Given the description of an element on the screen output the (x, y) to click on. 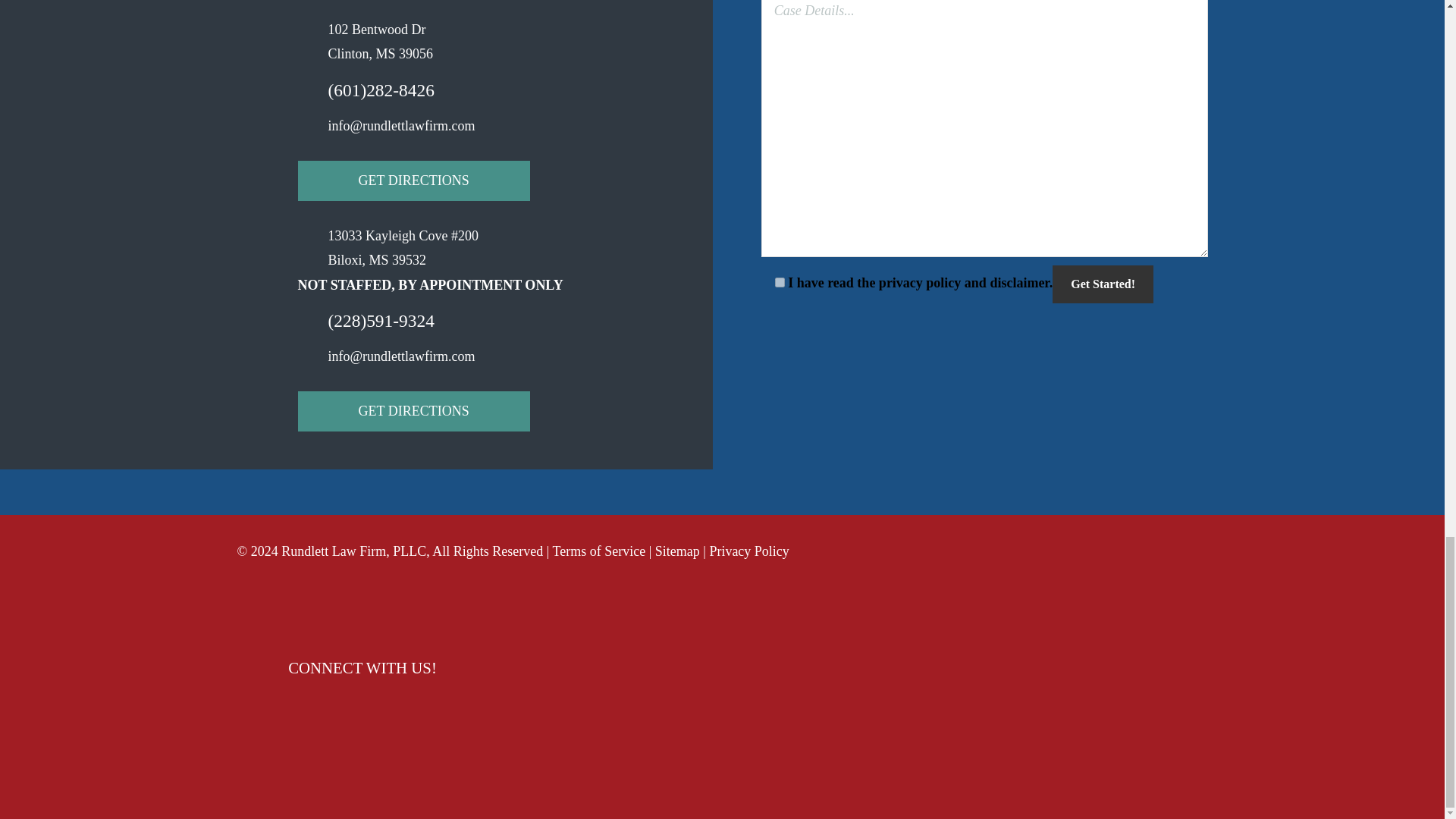
I have read the privacy policy and disclaimer. (779, 282)
Get Started! (1102, 284)
